Given the description of an element on the screen output the (x, y) to click on. 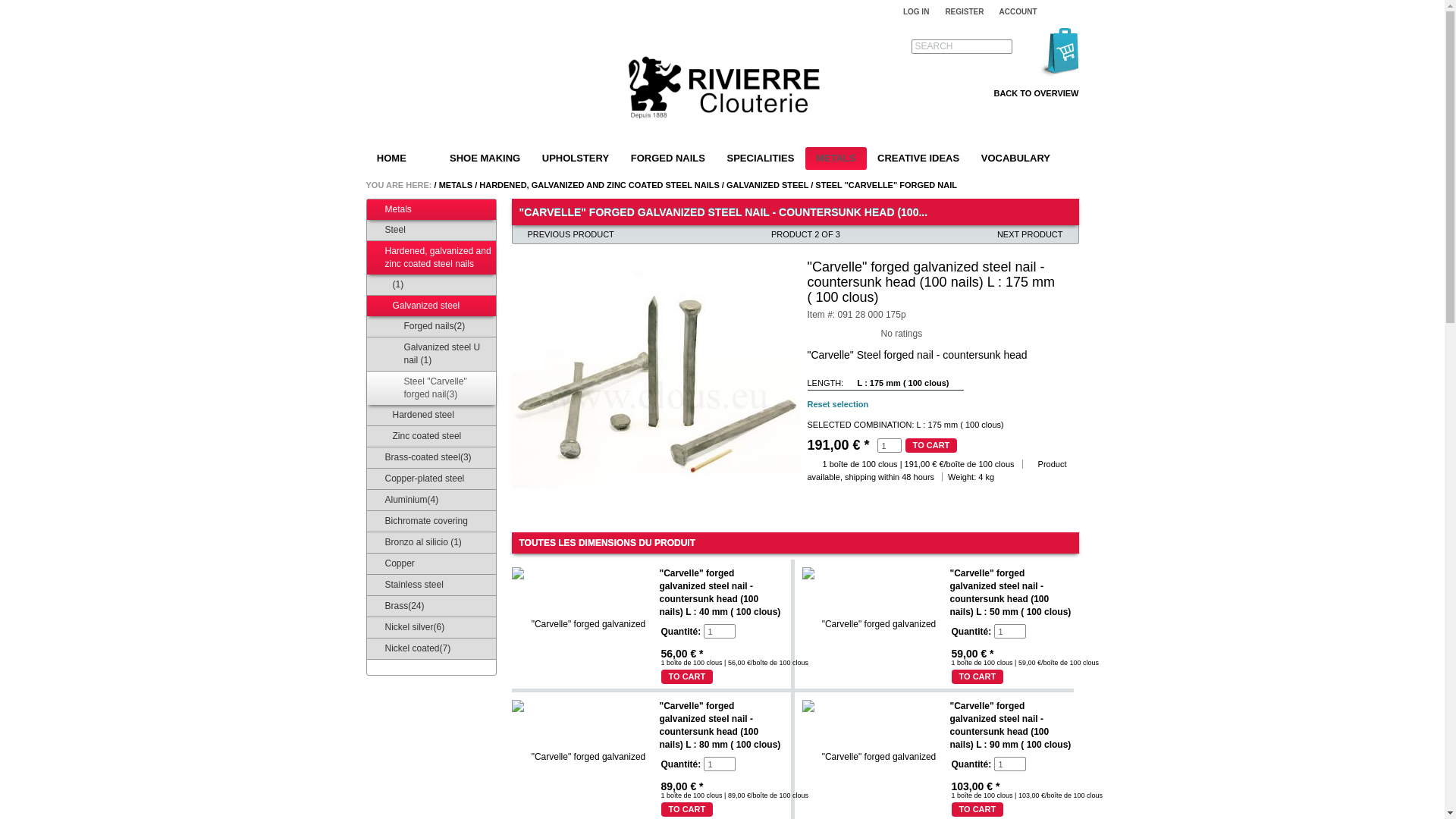
Nails, forged nails and tacks (721, 89)
1 (719, 763)
Metals (455, 184)
1 (1008, 631)
Please log in for rating! (813, 331)
LOG IN (915, 11)
Galvanized steel (767, 184)
ENGLISH (1068, 11)
1 (889, 445)
English (1068, 11)
ACCOUNT (1021, 11)
UPHOLSTERY (575, 158)
Register (964, 11)
Hardened, galvanized and zinc coated steel nails (599, 184)
SHOE MAKING (485, 158)
